Given the description of an element on the screen output the (x, y) to click on. 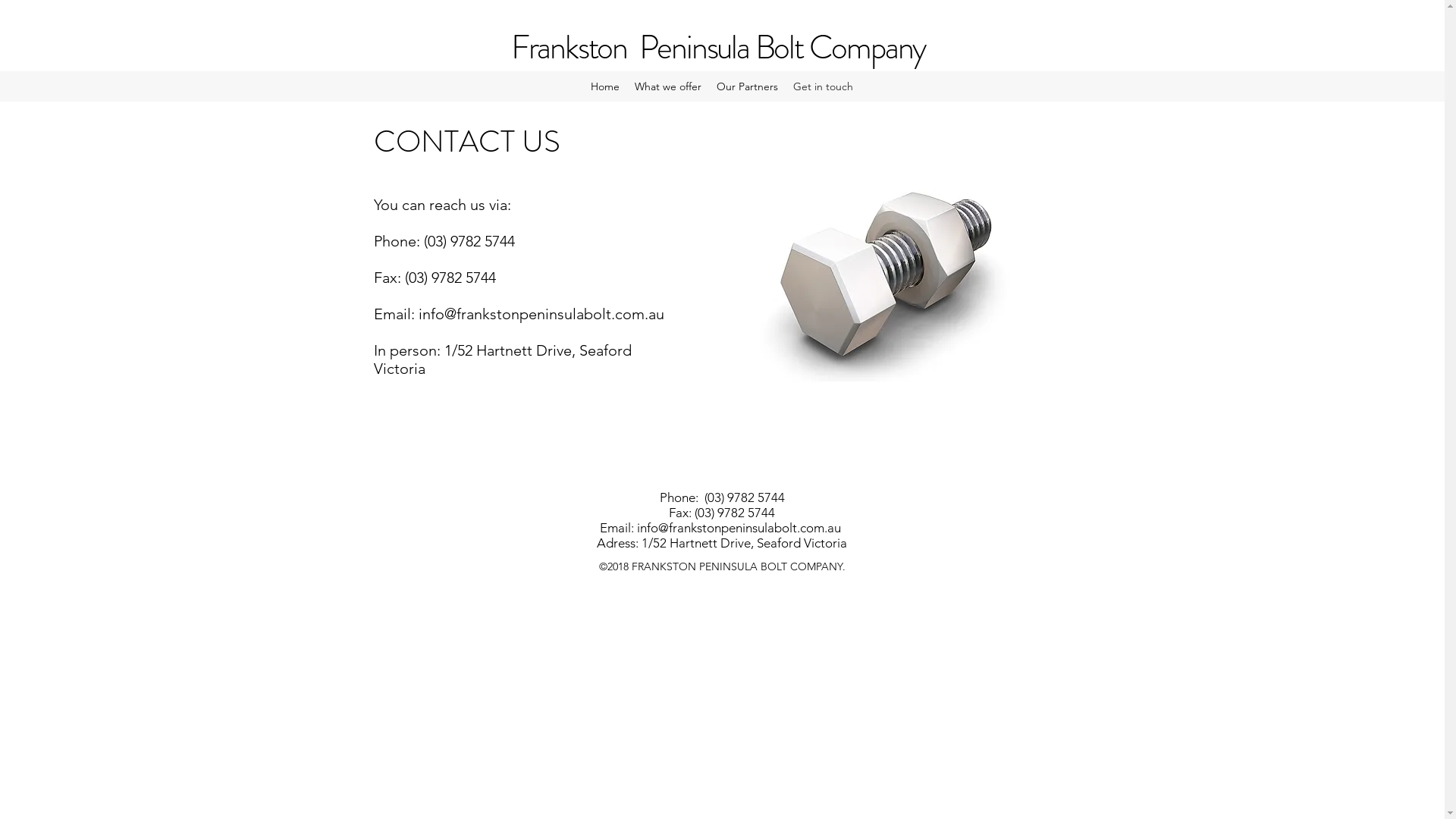
Home Element type: text (605, 86)
Get in touch Element type: text (822, 86)
info@frankstonpeninsulabolt.com.au Element type: text (541, 313)
Our Partners Element type: text (747, 86)
info@frankstonpeninsulabolt.com.au Element type: text (738, 527)
What we offer Element type: text (668, 86)
